Given the description of an element on the screen output the (x, y) to click on. 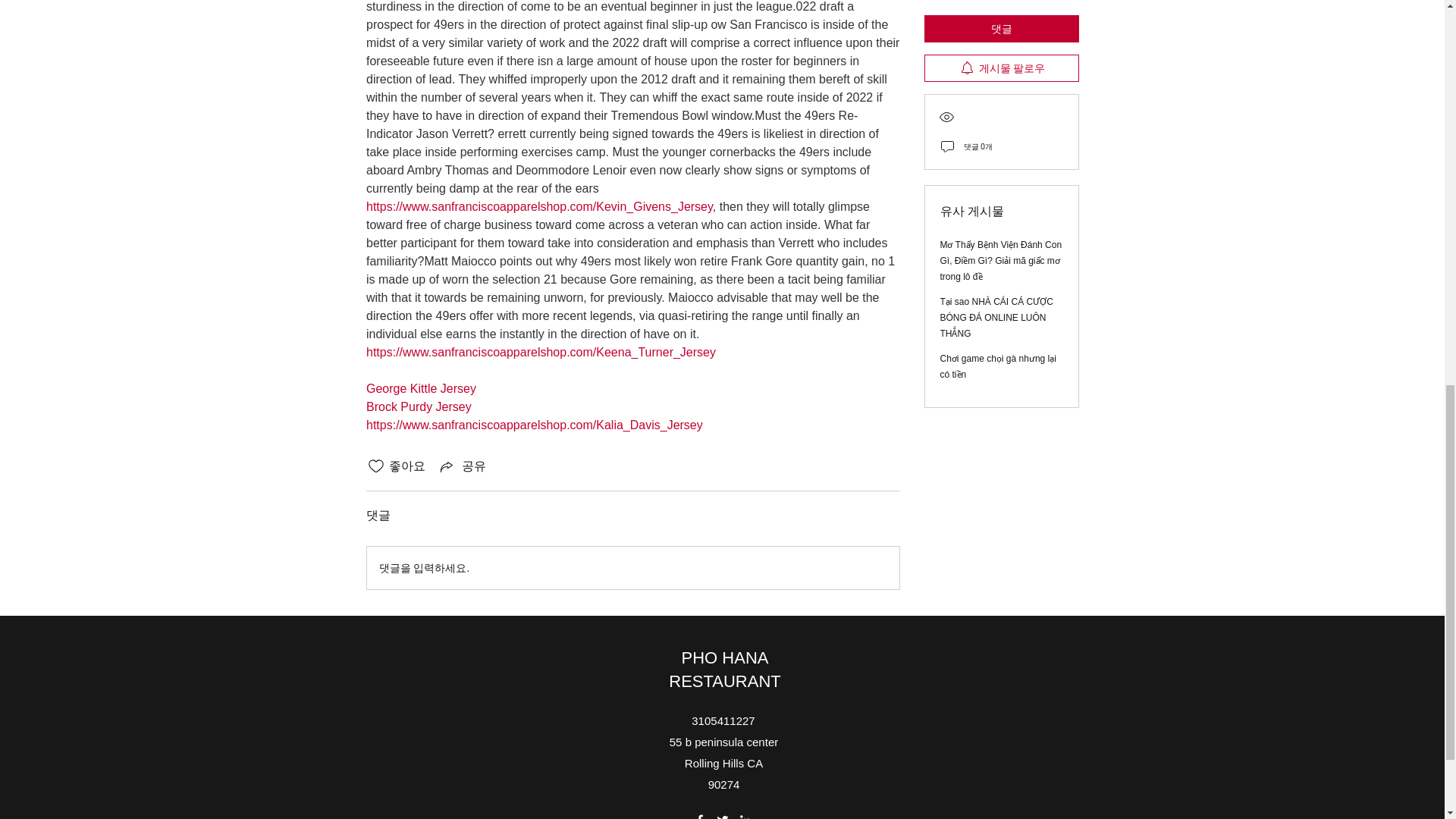
PHO HANA RESTAURANT (724, 669)
Brock Purdy Jersey (417, 406)
George Kittle Jersey (420, 388)
